Given the description of an element on the screen output the (x, y) to click on. 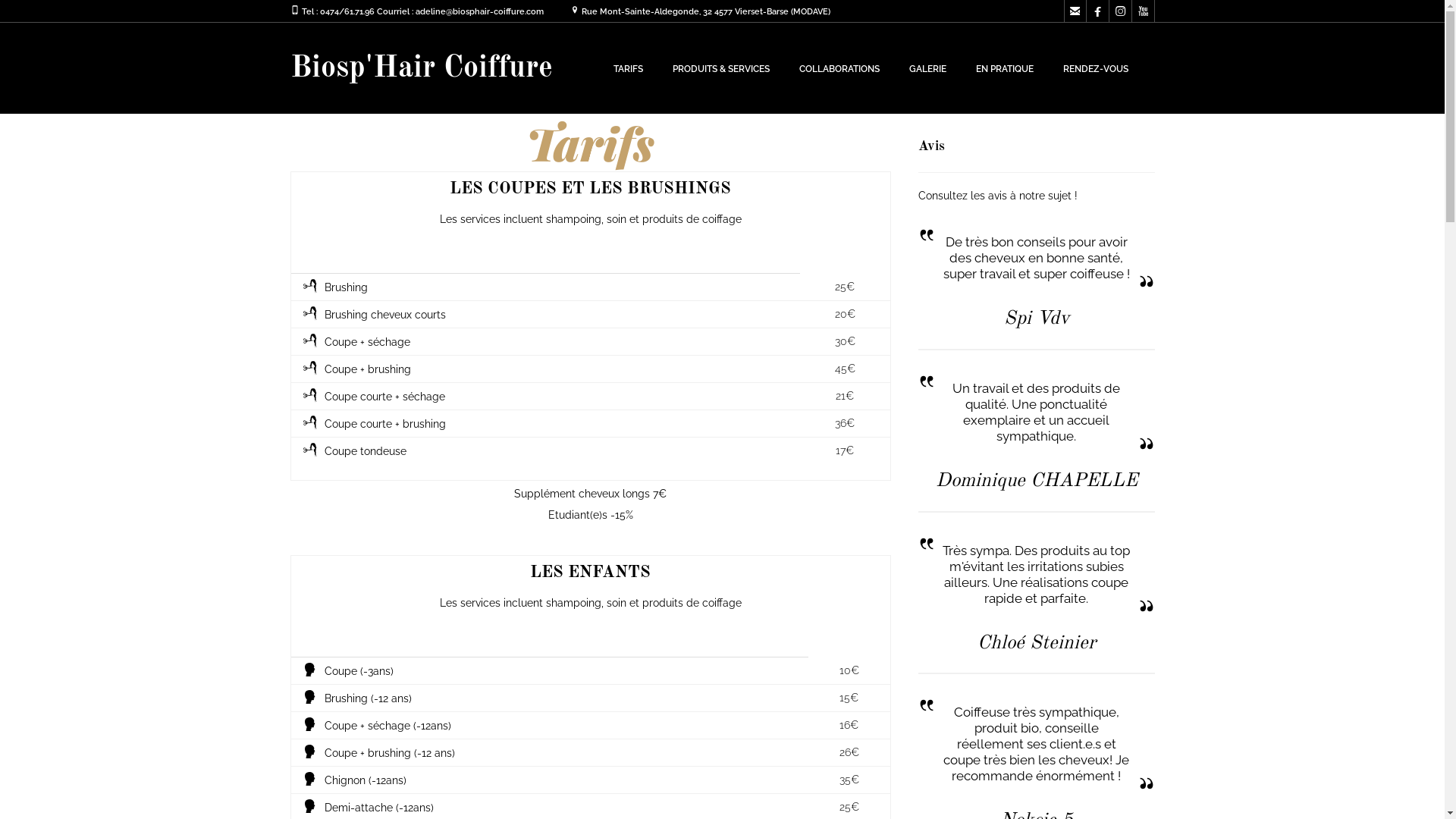
COLLABORATIONS Element type: text (839, 68)
RENDEZ-VOUS Element type: text (1095, 68)
Biosp'Hair Coiffure Element type: text (420, 68)
EN PRATIQUE Element type: text (1003, 68)
GALERIE Element type: text (926, 68)
TARIFS Element type: text (627, 68)
PRODUITS & SERVICES Element type: text (719, 68)
